Given the description of an element on the screen output the (x, y) to click on. 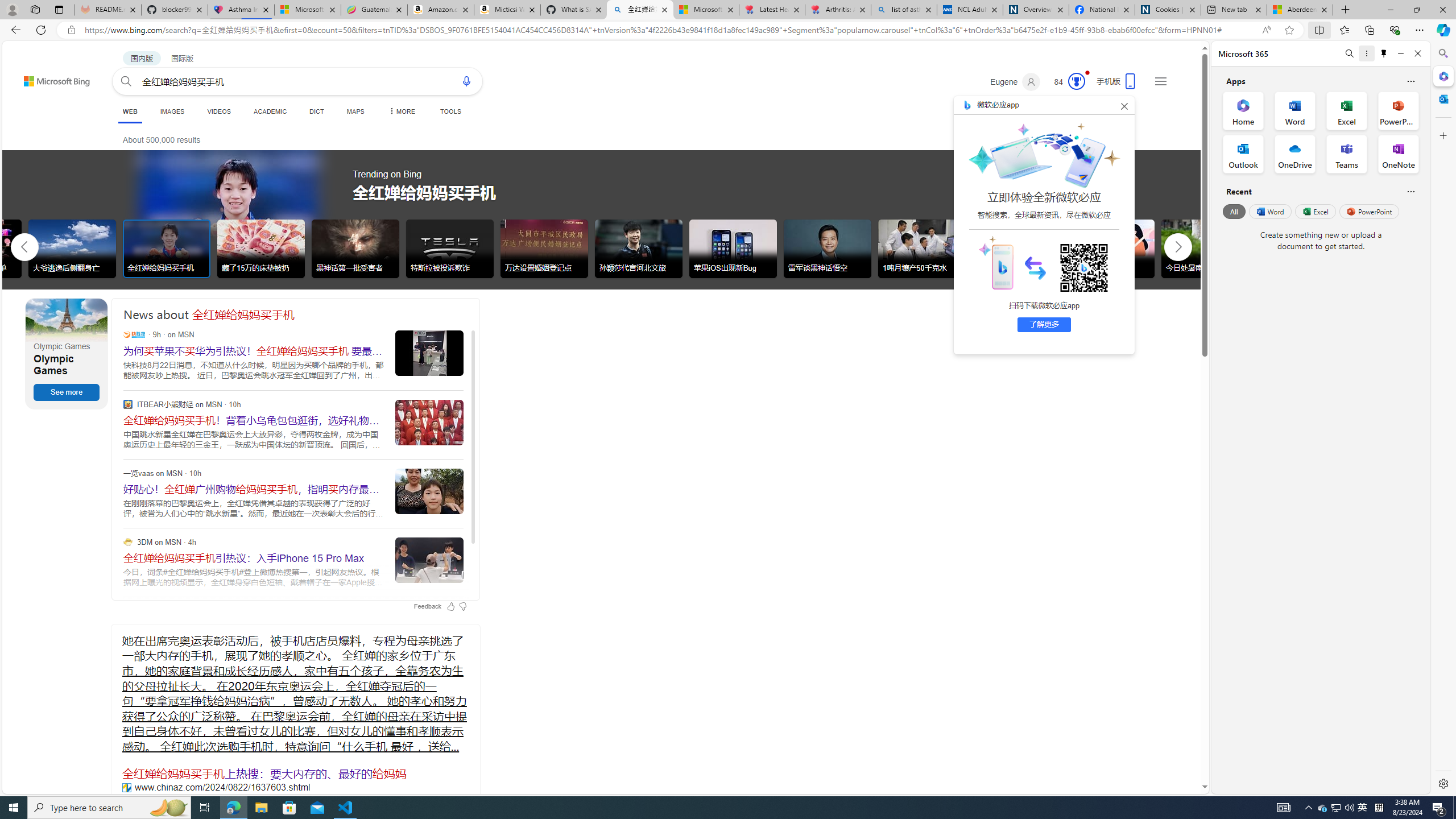
TOOLS (450, 111)
Word Office App (1295, 110)
MAPS (355, 111)
Search more (1179, 753)
Click to scroll left (25, 246)
